Given the description of an element on the screen output the (x, y) to click on. 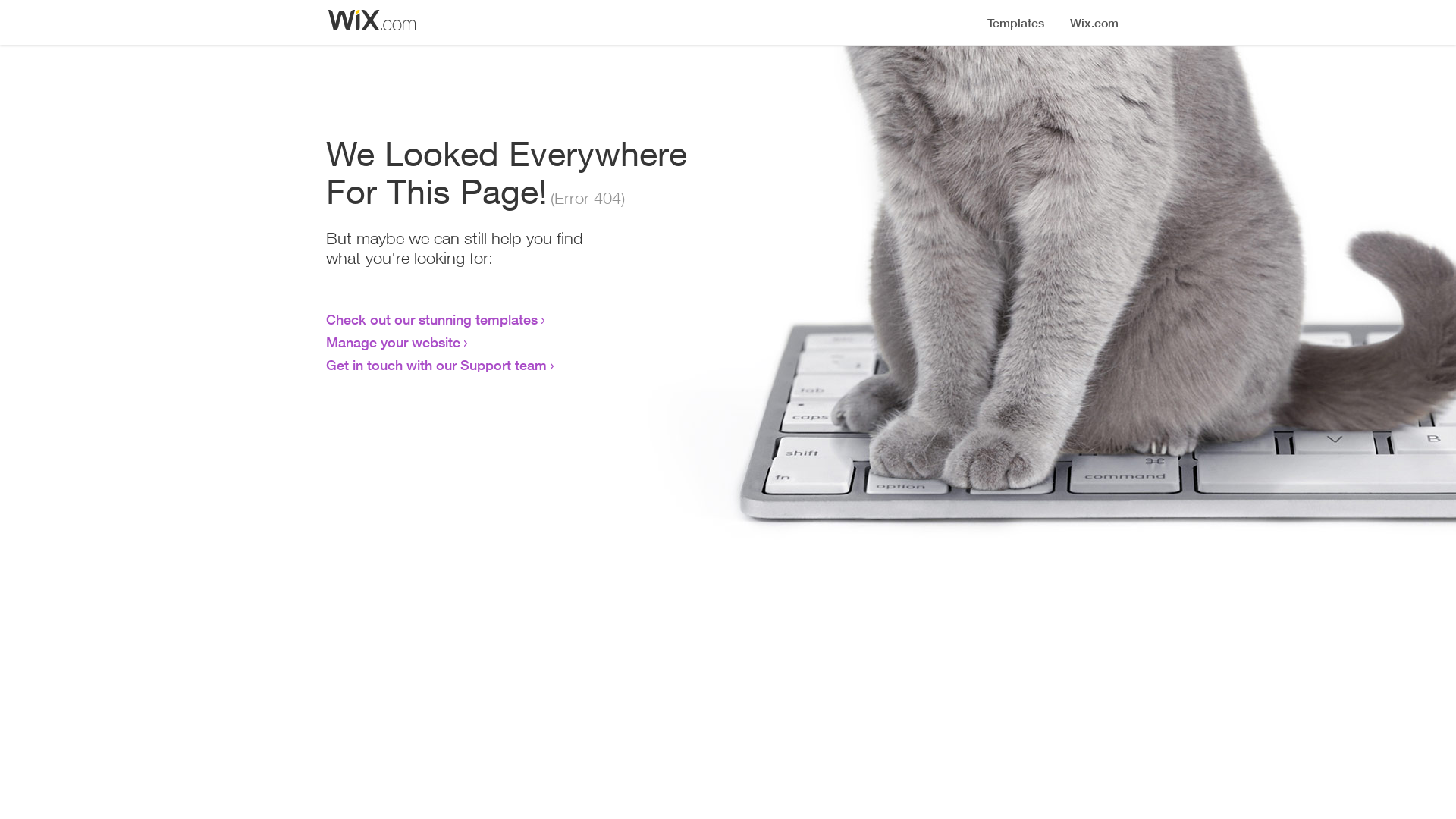
Check out our stunning templates Element type: text (431, 318)
Get in touch with our Support team Element type: text (436, 364)
Manage your website Element type: text (393, 341)
